Given the description of an element on the screen output the (x, y) to click on. 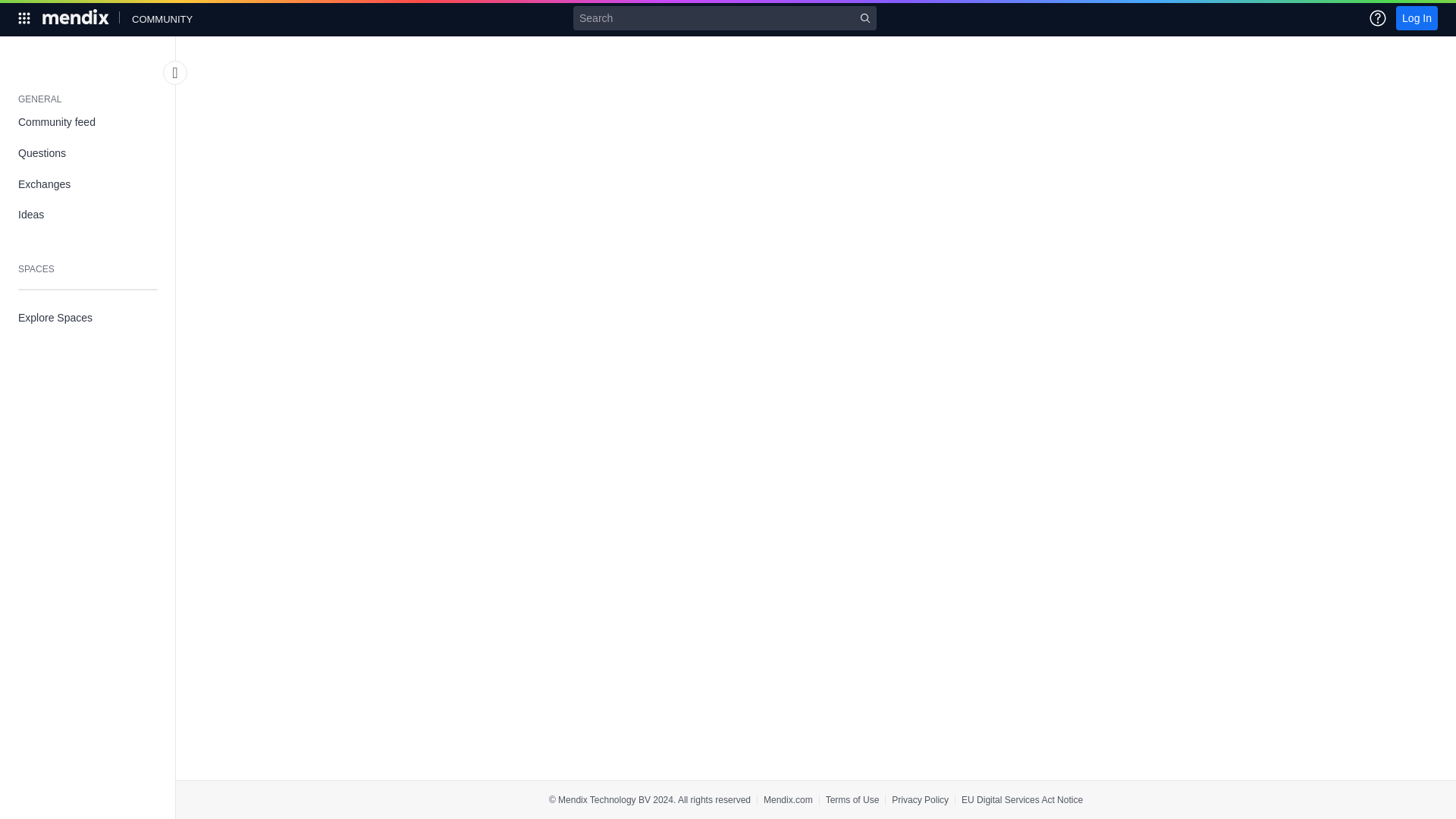
Navigate to Portal Home (77, 18)
Navigate to Community home page (161, 17)
Exchanges (87, 183)
Questions (87, 153)
Open Global Navigation (23, 17)
Ideas (87, 214)
Open Support Menu (1377, 17)
Community feed (87, 122)
Community (161, 17)
Log In (1417, 17)
